Given the description of an element on the screen output the (x, y) to click on. 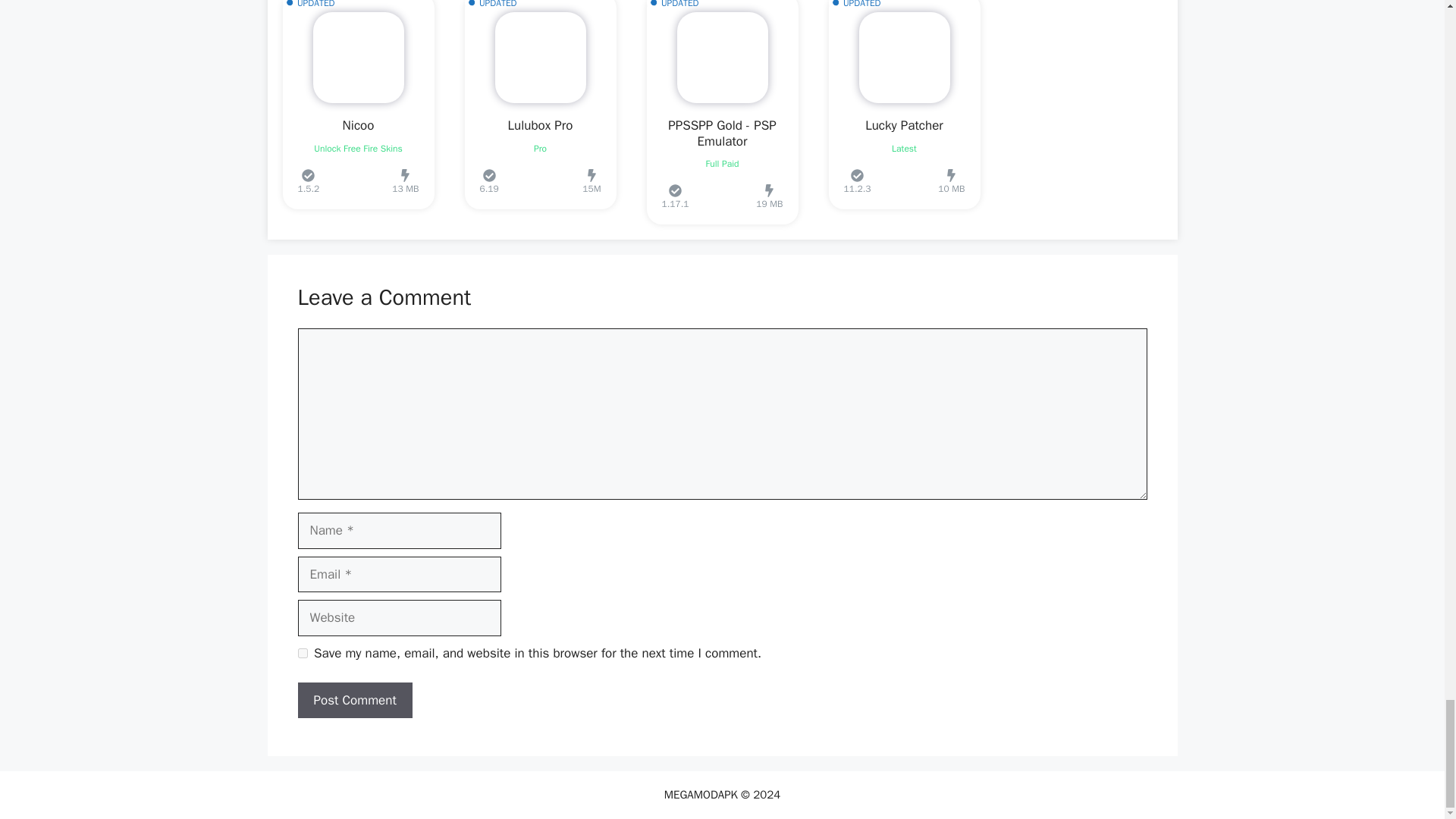
yes (302, 653)
Post Comment (354, 700)
Lucky Patcher (903, 125)
Lulubox Pro (540, 125)
Post Comment (354, 700)
PPSSPP Gold - PSP Emulator (722, 132)
Nicoo (358, 125)
